Given the description of an element on the screen output the (x, y) to click on. 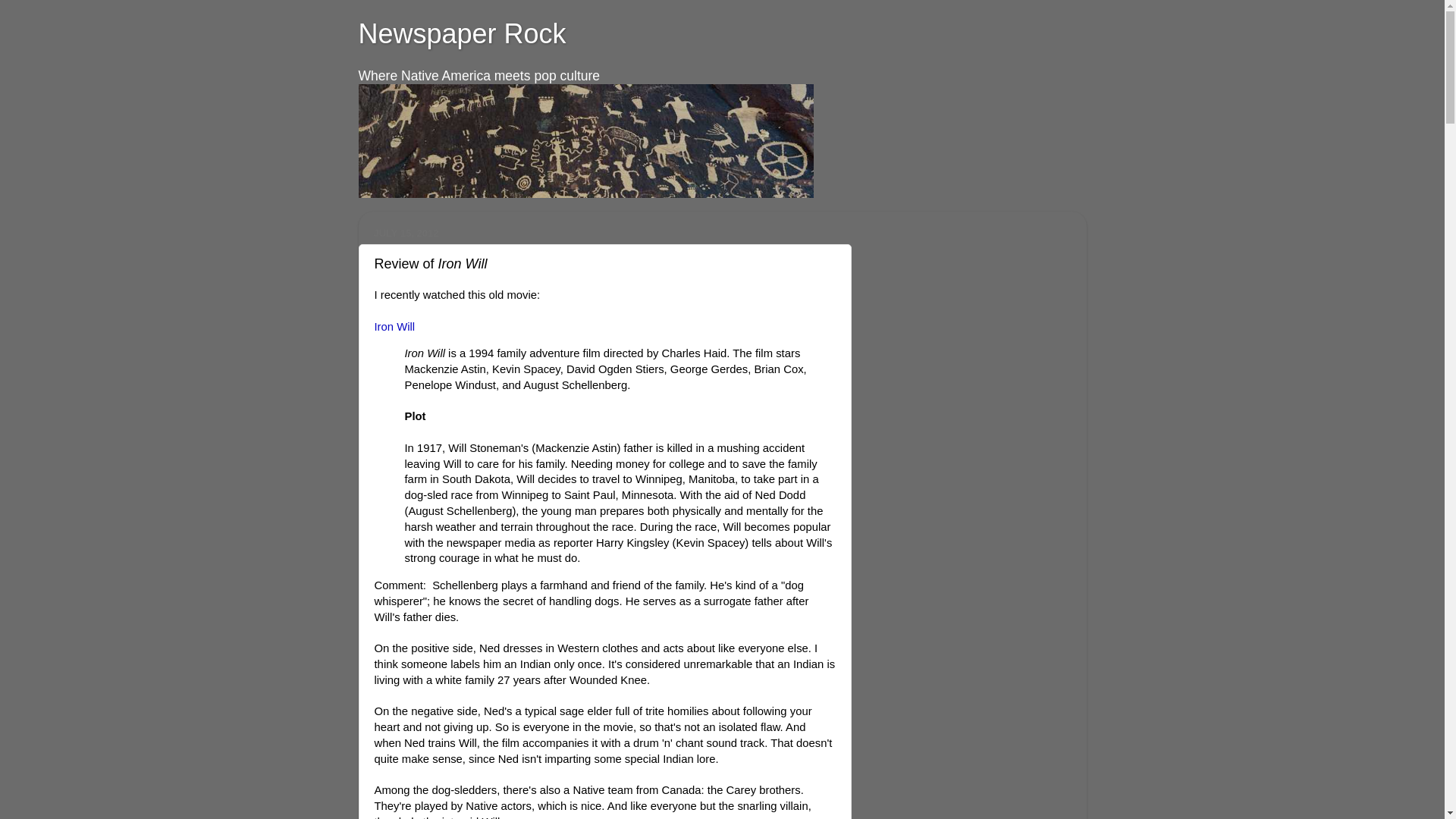
Newspaper Rock (462, 33)
Iron Will (394, 326)
